Given the description of an element on the screen output the (x, y) to click on. 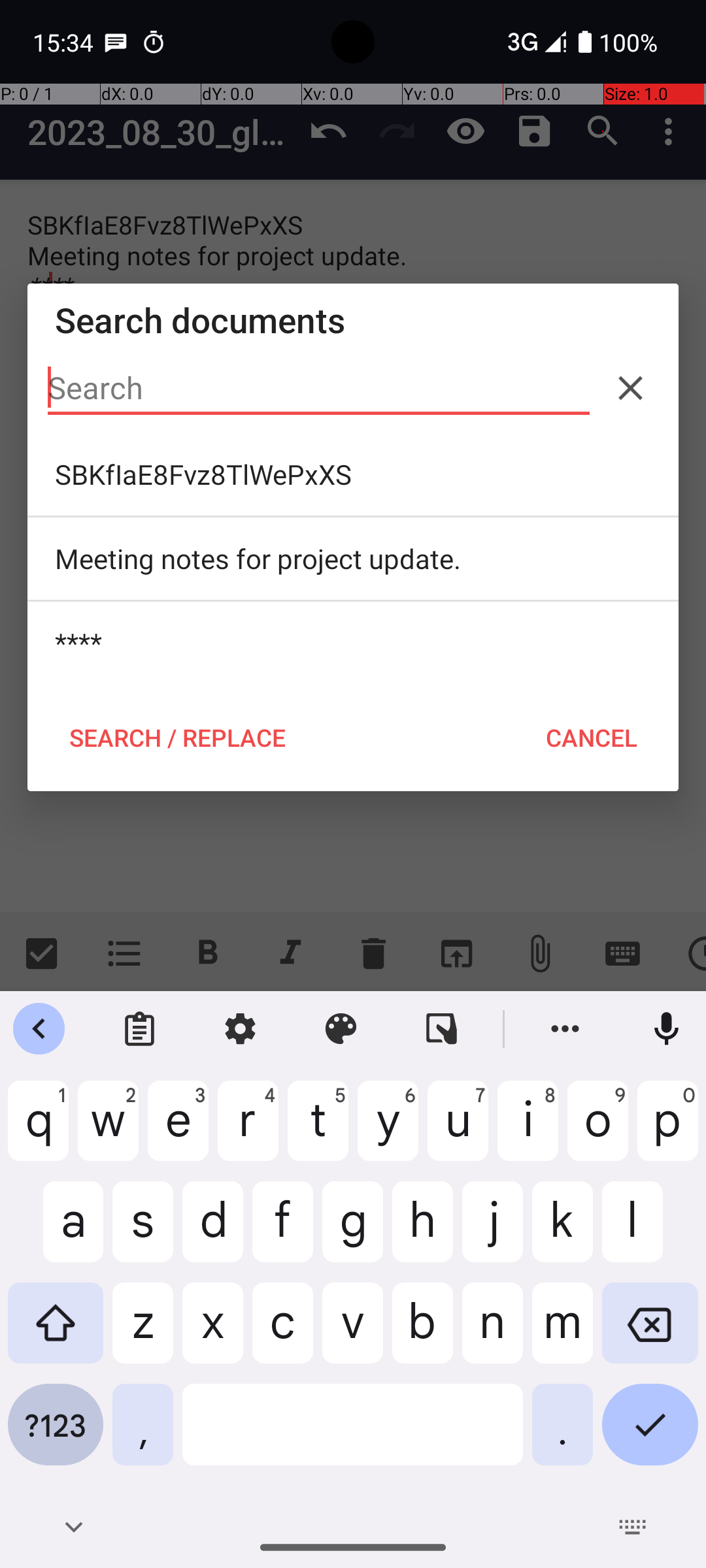
SBKfIaE8Fvz8TlWePxXS Element type: android.widget.TextView (352, 474)
Meeting notes for project update. Element type: android.widget.TextView (352, 558)
**** Element type: android.widget.TextView (352, 642)
